Given the description of an element on the screen output the (x, y) to click on. 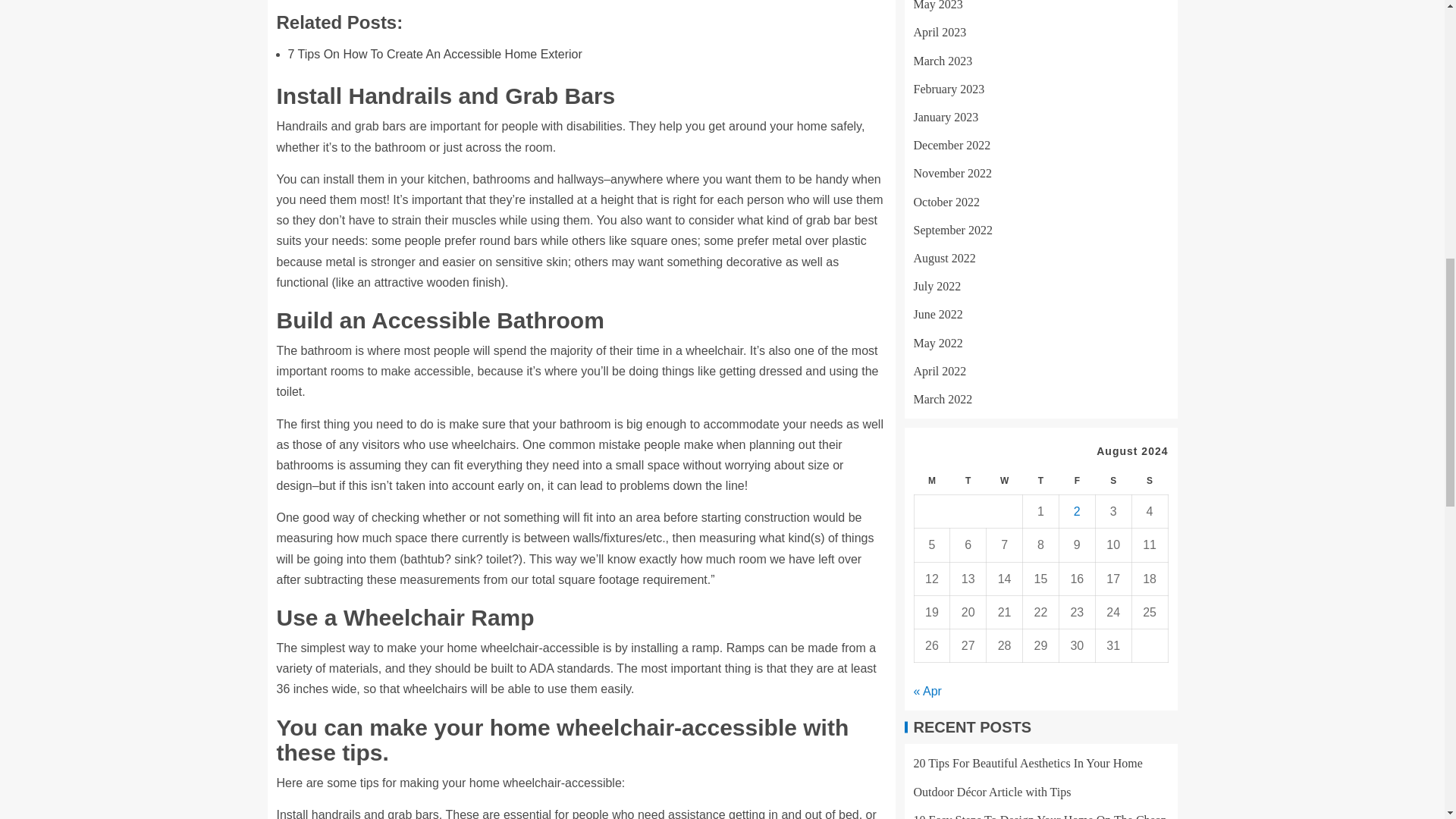
Tuesday (968, 338)
Thursday (1041, 338)
7 Tips On How To Create An Accessible Home Exterior (435, 53)
Wednesday (1005, 338)
Monday (932, 338)
